Given the description of an element on the screen output the (x, y) to click on. 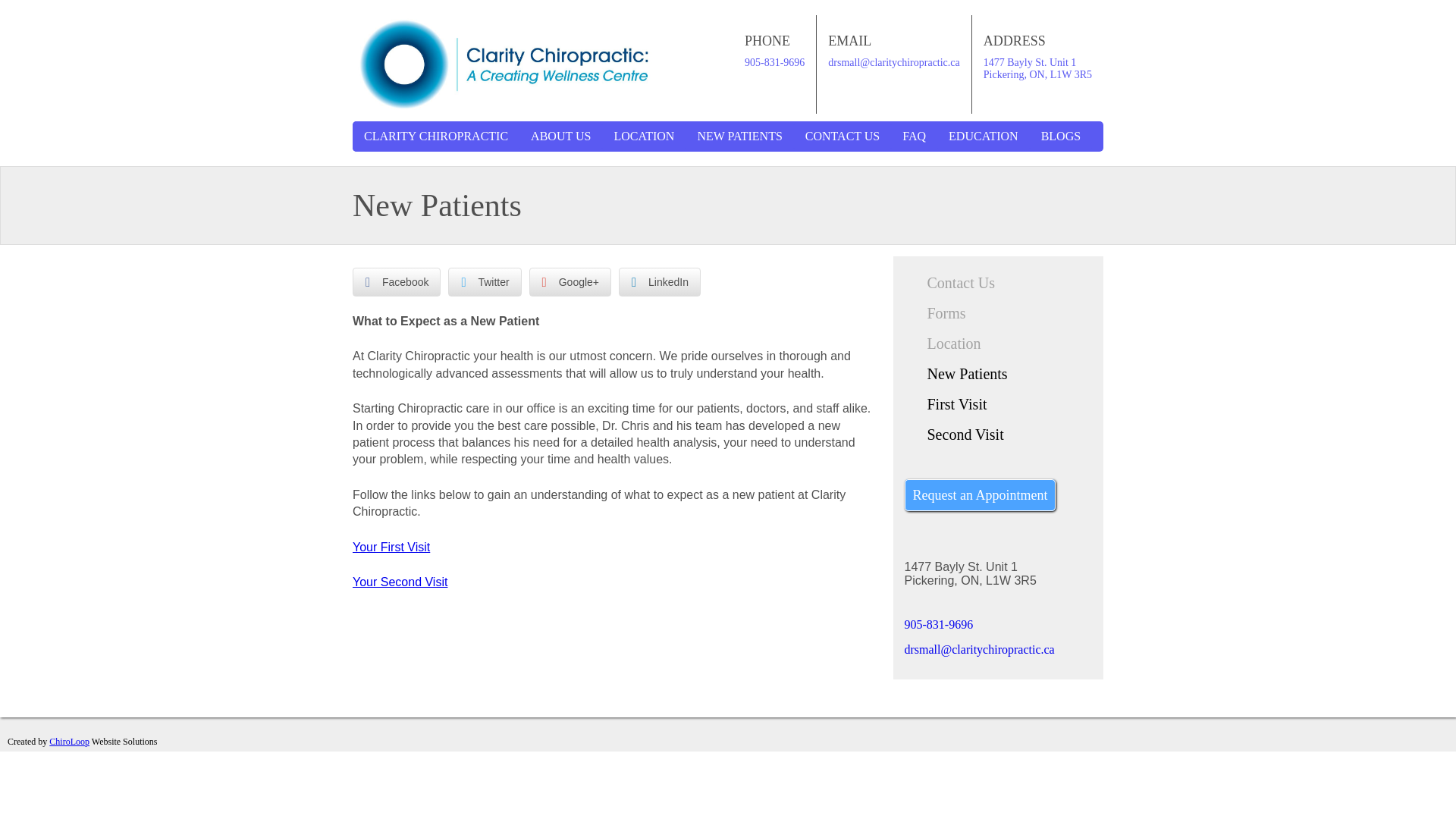
Facebook (396, 281)
First Visit (945, 403)
BLOGS (1060, 136)
FAQ (914, 136)
CONTACT US (842, 136)
Request an Appointment (979, 495)
Your Second Visit (399, 581)
Your First Visit (390, 546)
905-831-9696 (774, 61)
ChiroLoop (68, 741)
